Given the description of an element on the screen output the (x, y) to click on. 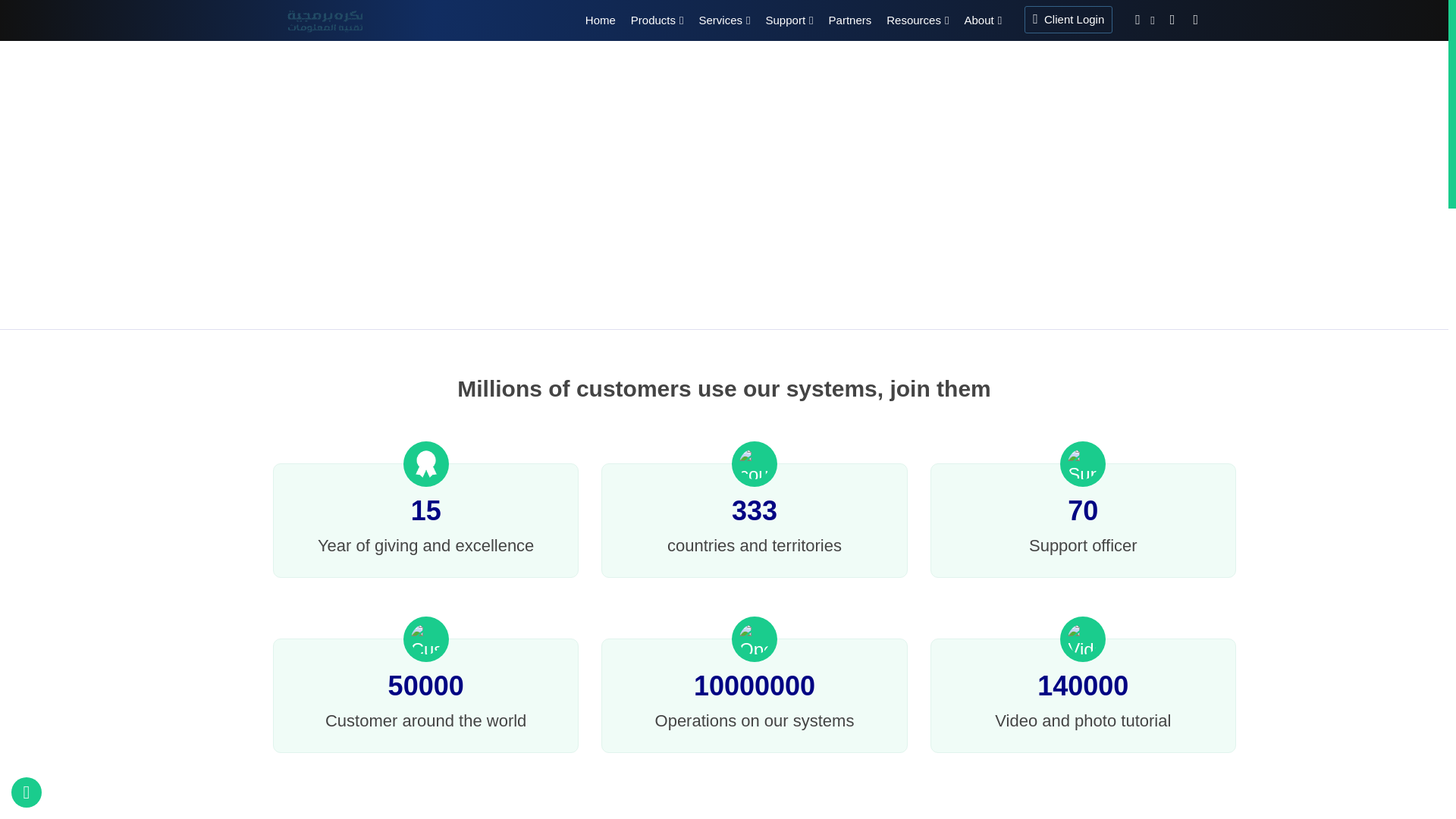
to Top (724, 792)
Products (657, 20)
Home (600, 20)
